Given the description of an element on the screen output the (x, y) to click on. 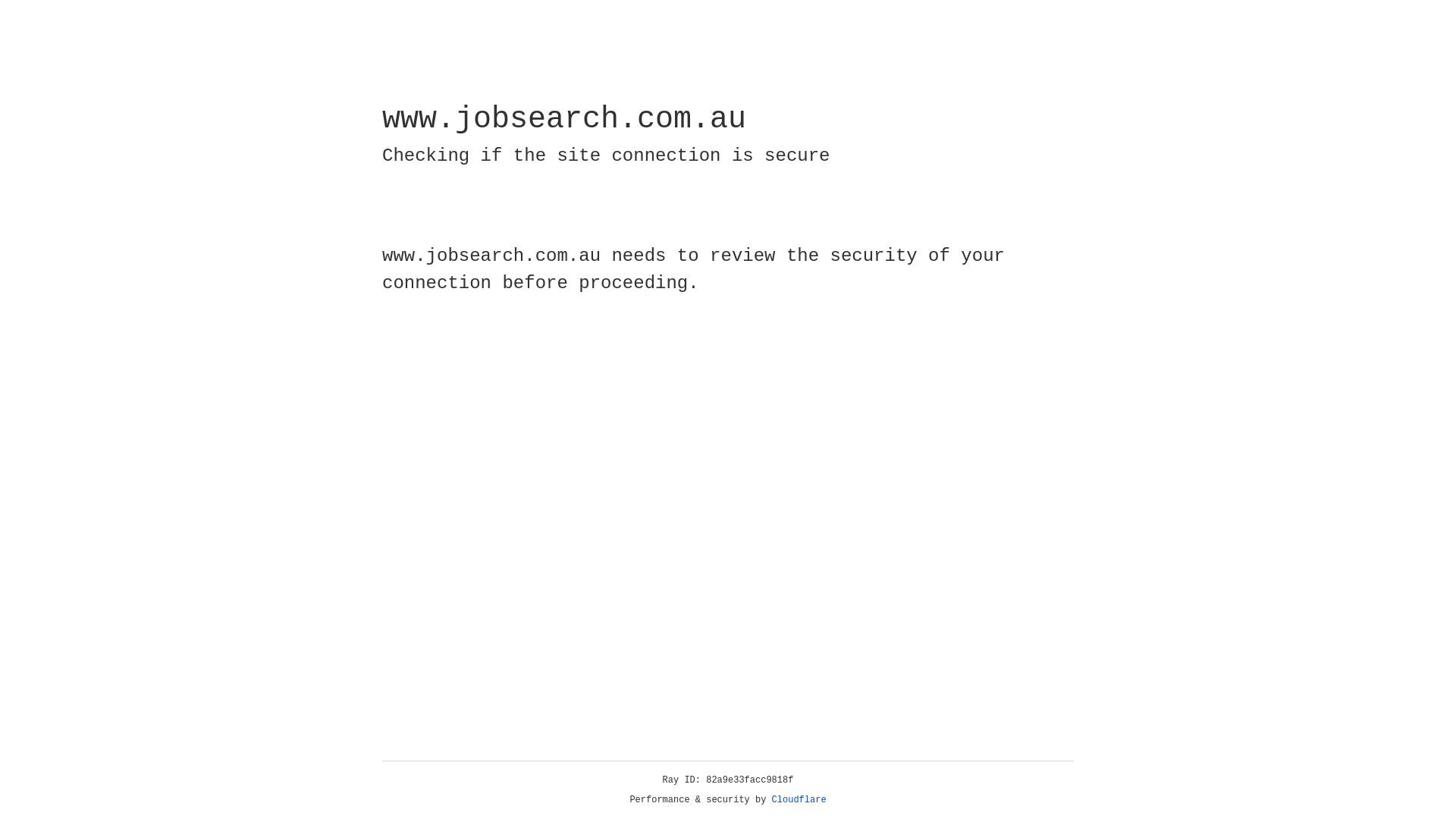
Cloudflare Element type: text (798, 799)
